Given the description of an element on the screen output the (x, y) to click on. 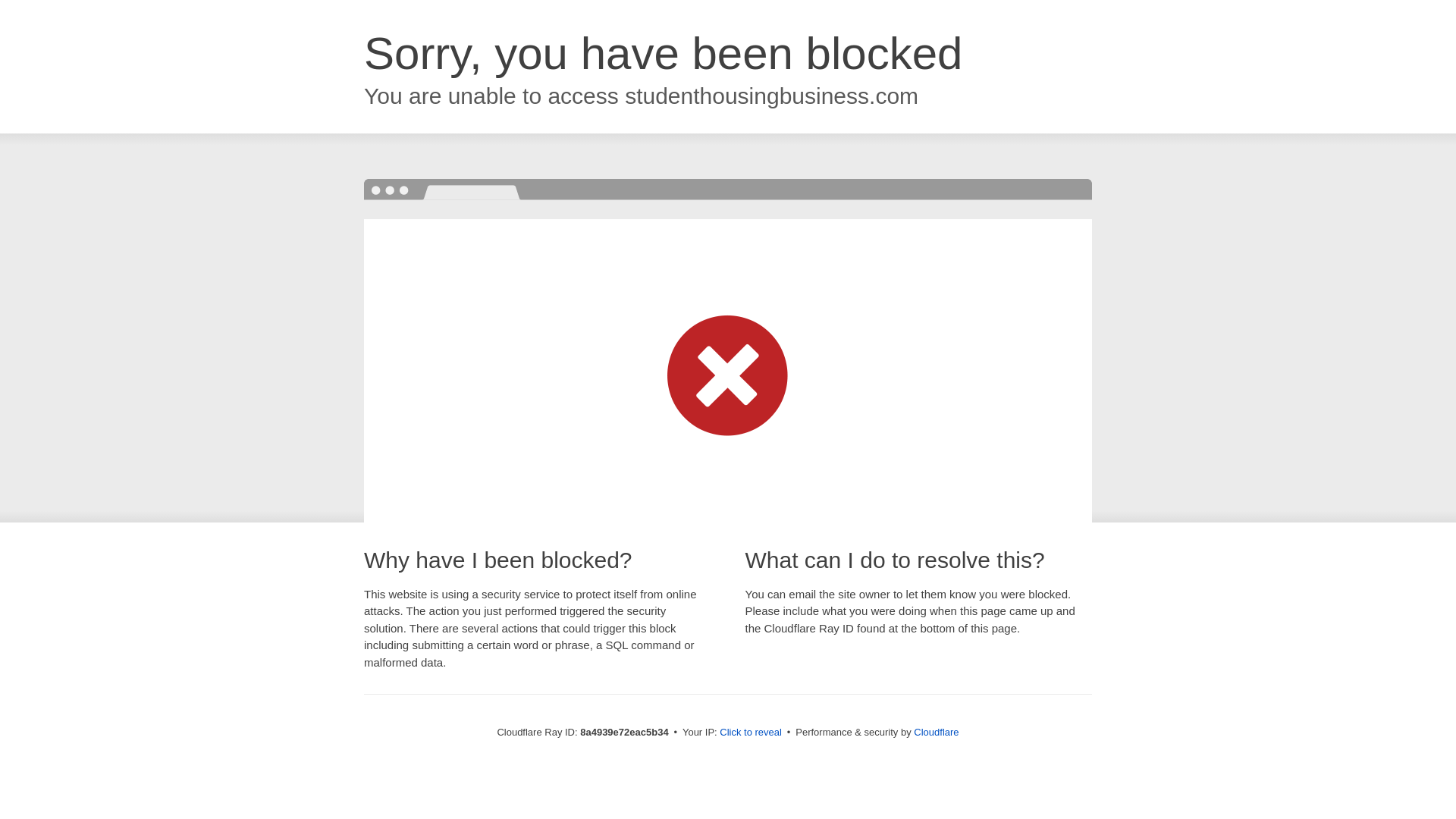
Cloudflare (936, 731)
Click to reveal (750, 732)
